Given the description of an element on the screen output the (x, y) to click on. 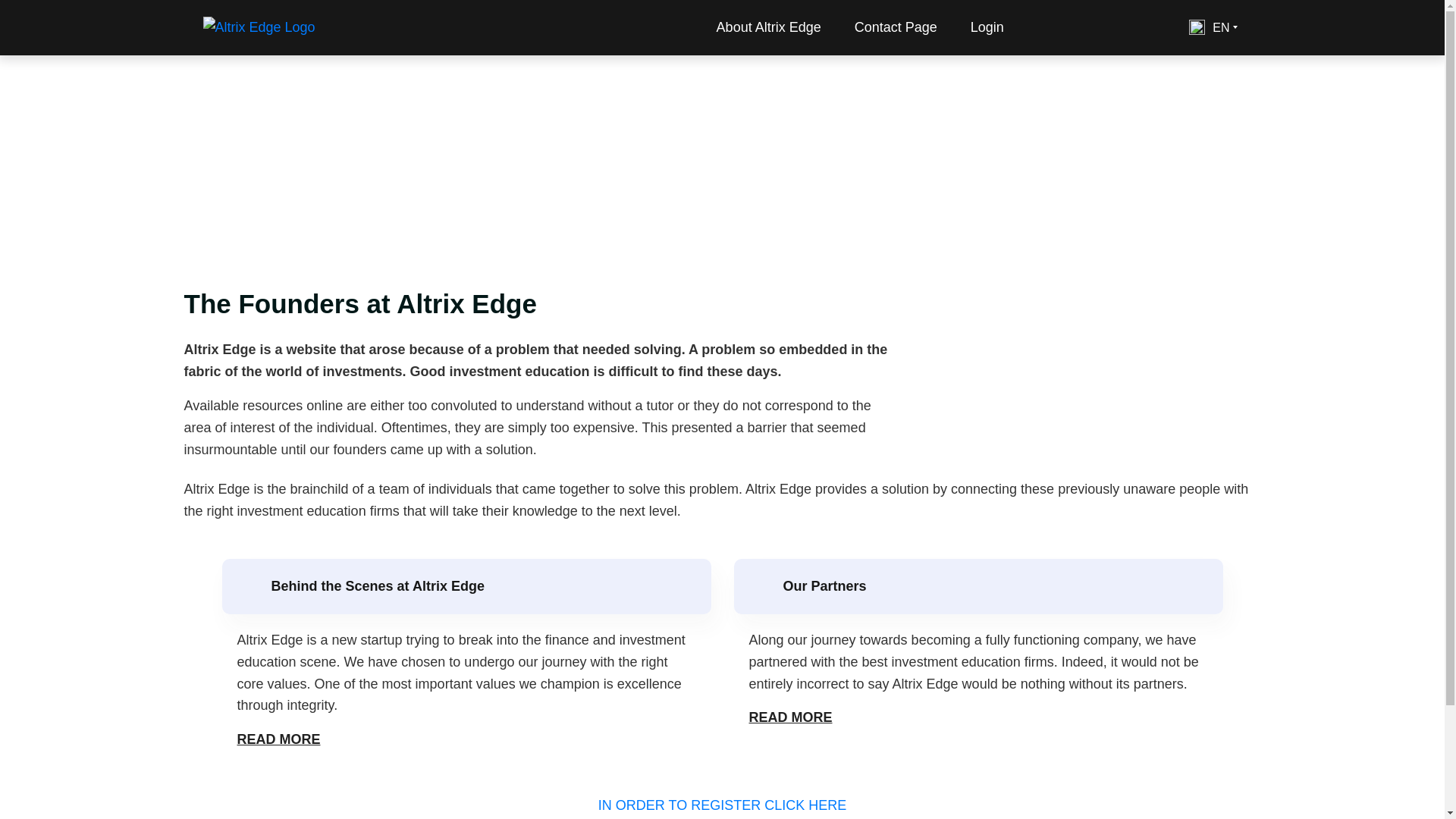
Contact Page (895, 27)
Login (987, 27)
About Altrix Edge (768, 27)
IN ORDER TO REGISTER CLICK HERE (721, 805)
